Given the description of an element on the screen output the (x, y) to click on. 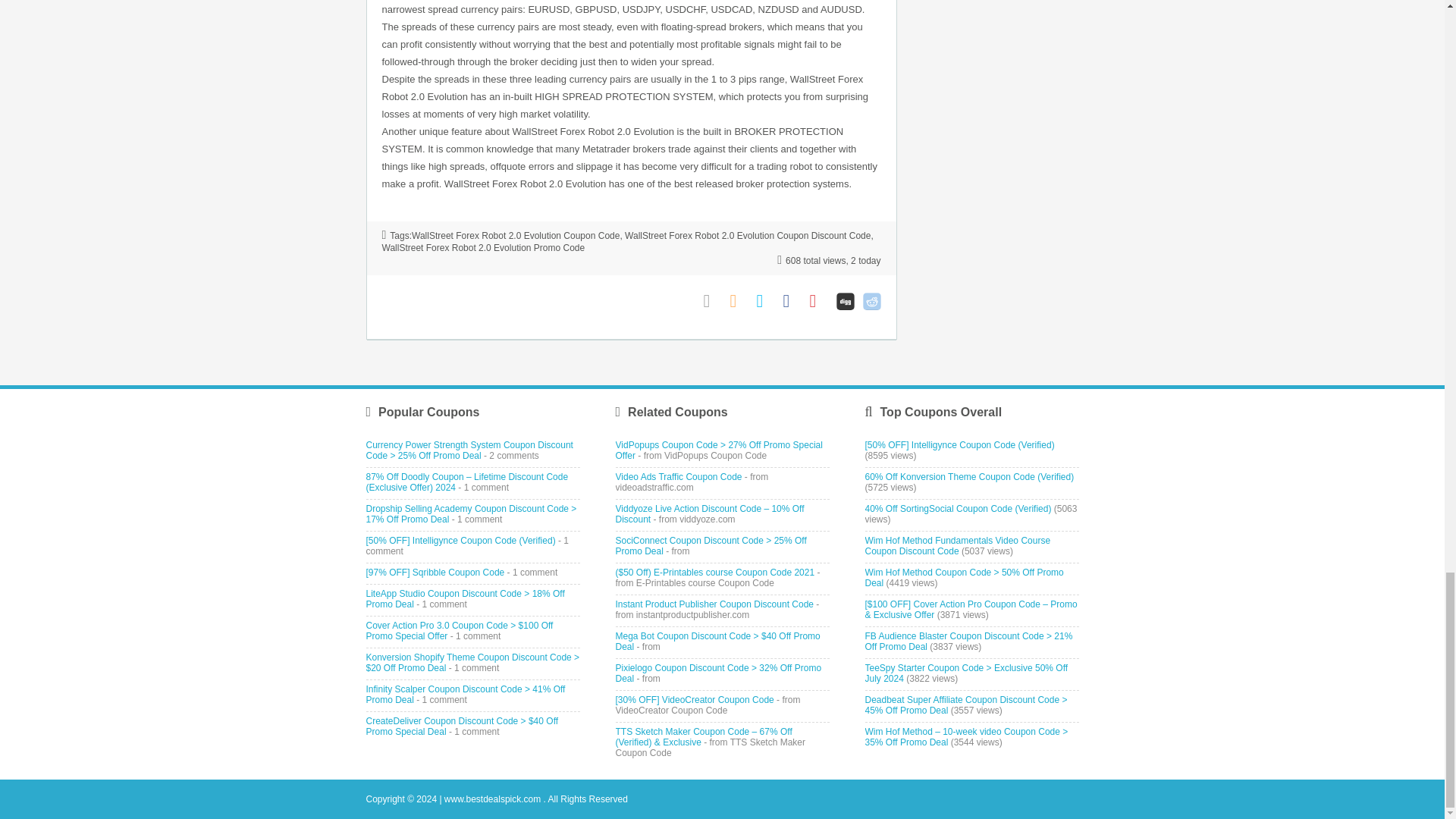
WallStreet Forex Robot 2.0 Evolution Promo Code (483, 247)
WallStreet Forex Robot 2.0 Evolution Coupon Code (516, 235)
WallStreet Forex Robot 2.0 Evolution Coupon Discount Code (747, 235)
Digg (844, 301)
Email to Friend (712, 301)
Reddit (871, 301)
Facebook (791, 301)
Coupon Comments RSS (738, 301)
Twitter (765, 301)
Pinterest (818, 301)
